Given the description of an element on the screen output the (x, y) to click on. 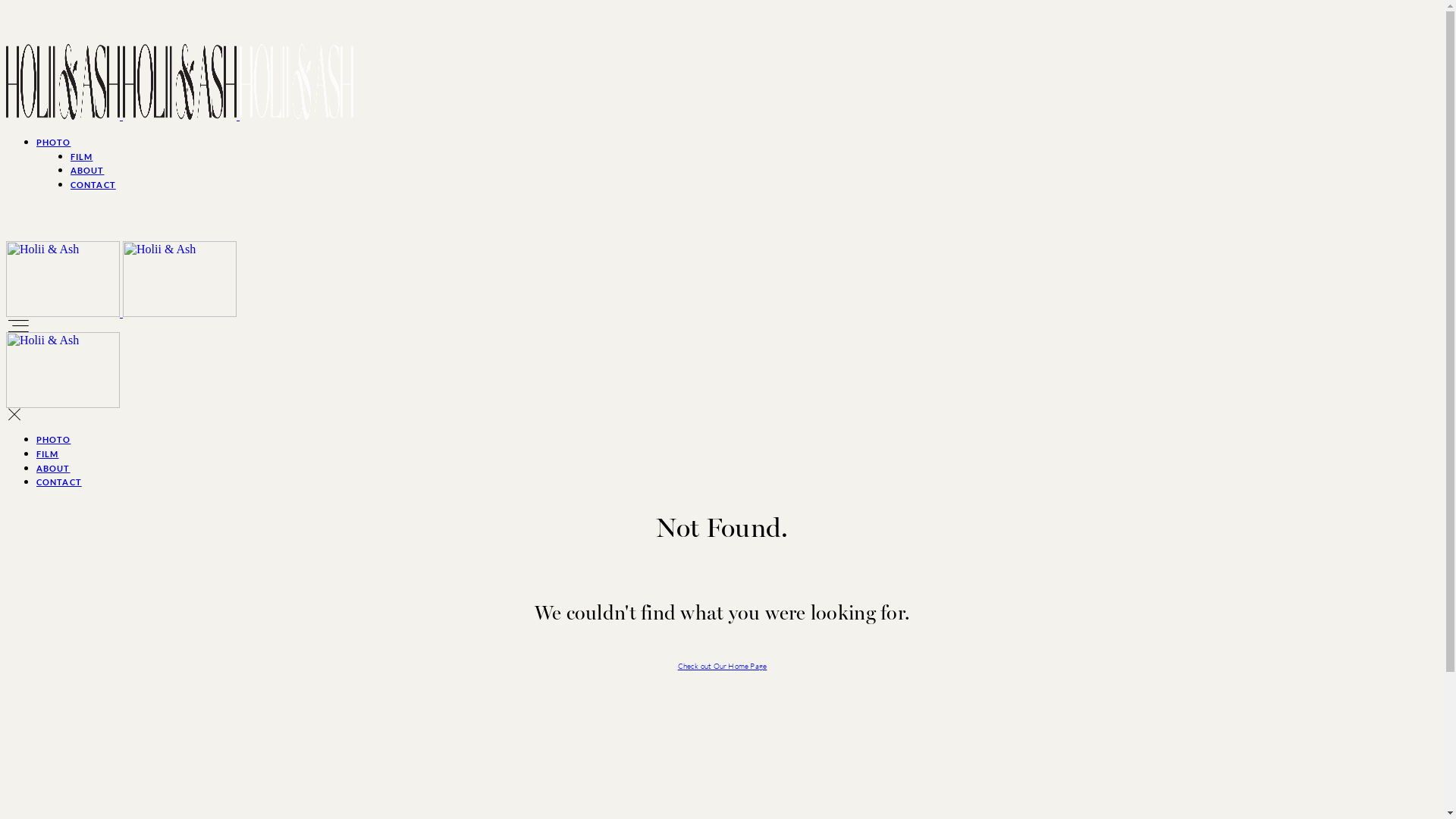
Check out Our Home Page Element type: text (722, 666)
FILM Element type: text (47, 453)
PHOTO Element type: text (53, 142)
PHOTO Element type: text (53, 439)
FILM Element type: text (81, 156)
CONTACT Element type: text (93, 184)
ABOUT Element type: text (87, 170)
CONTACT Element type: text (58, 481)
ABOUT Element type: text (53, 468)
